Given the description of an element on the screen output the (x, y) to click on. 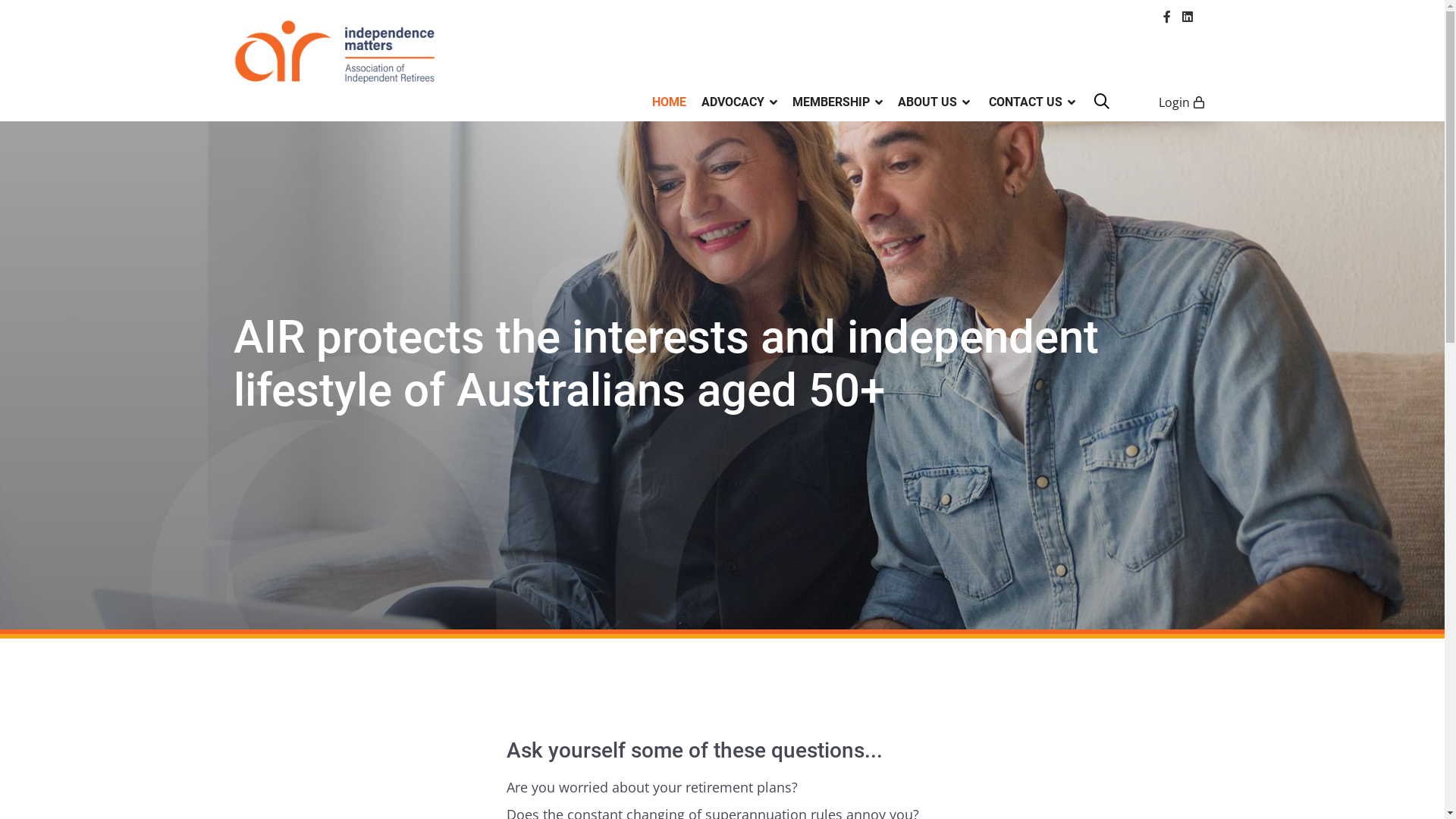
linkedin Element type: hover (1186, 16)
facebook Element type: hover (1166, 16)
ABOUT US Element type: text (933, 102)
ADVOCACY Element type: text (738, 102)
CONTACT US Element type: text (1025, 102)
facebook Element type: text (1166, 16)
MEMBERSHIP Element type: text (836, 102)
linkedin Element type: text (1186, 16)
HOME Element type: text (668, 102)
